Given the description of an element on the screen output the (x, y) to click on. 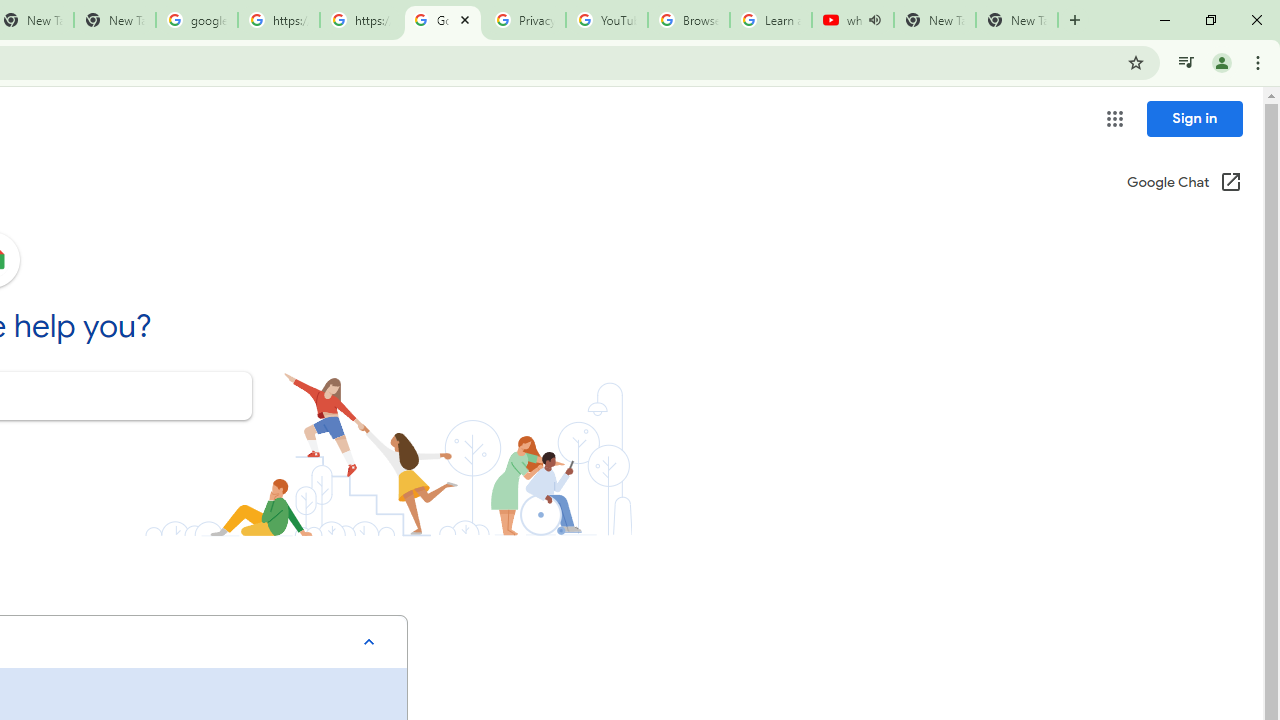
Google Chat (Open in a new window) (1184, 183)
Browse Chrome as a guest - Computer - Google Chrome Help (688, 20)
Google Chat Help (442, 20)
